Given the description of an element on the screen output the (x, y) to click on. 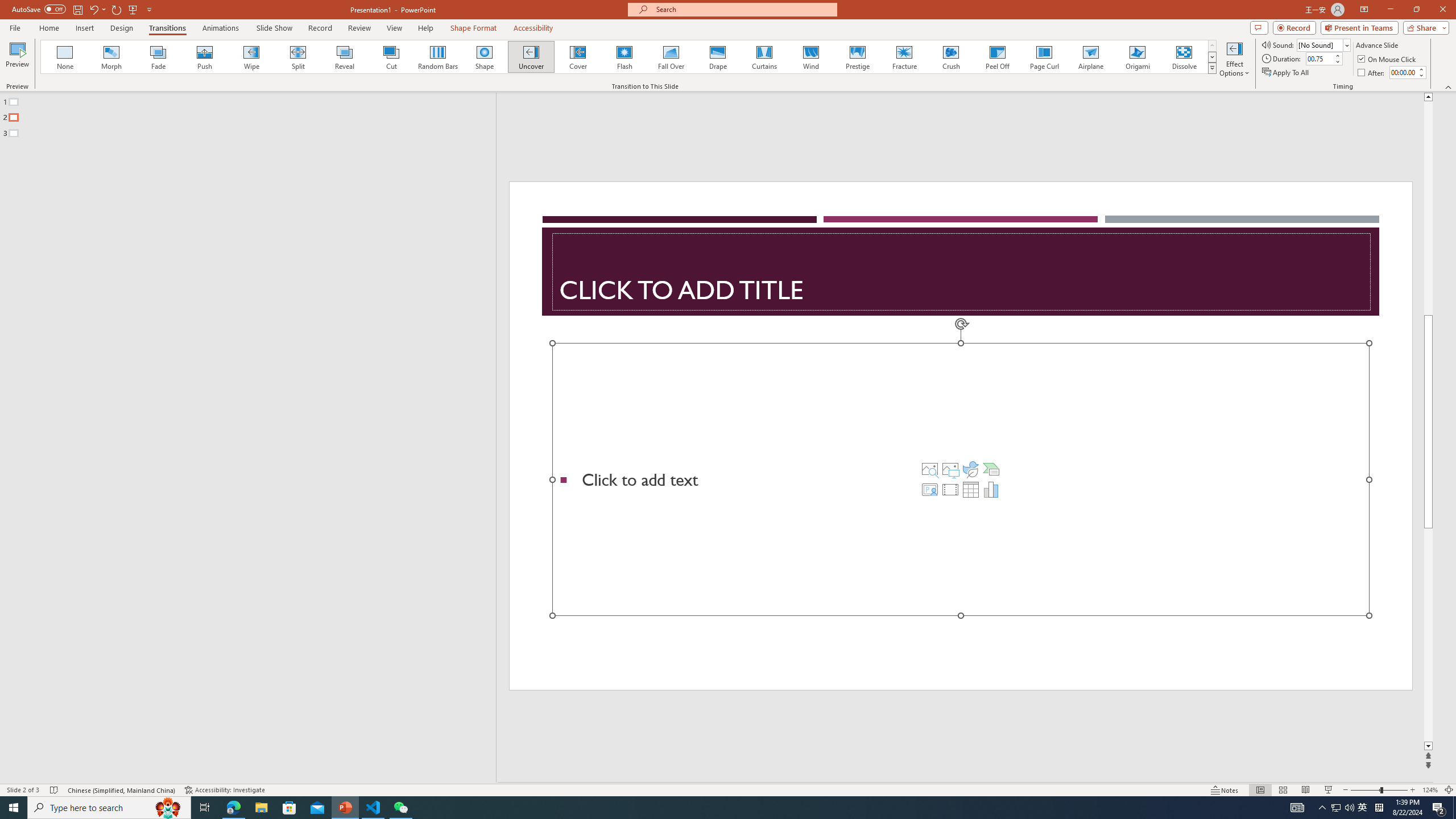
Split (298, 56)
After (1372, 72)
Uncover (531, 56)
Peel Off (997, 56)
After (1403, 72)
